Given the description of an element on the screen output the (x, y) to click on. 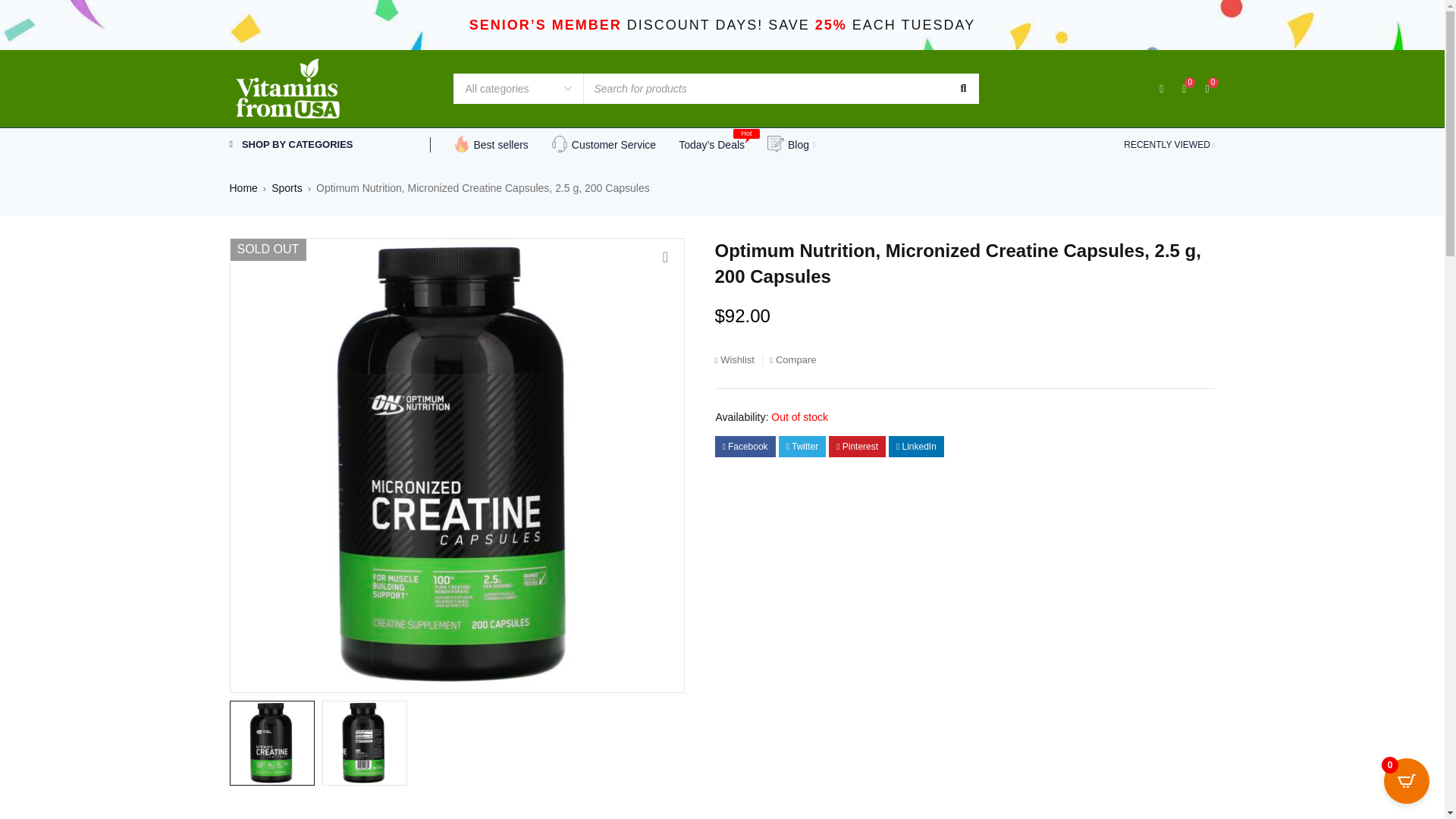
Blog (791, 144)
Customer Service (603, 144)
Best sellers (490, 144)
Search (962, 88)
Search (962, 88)
Search (962, 88)
Vitamins From USA (289, 88)
